Given the description of an element on the screen output the (x, y) to click on. 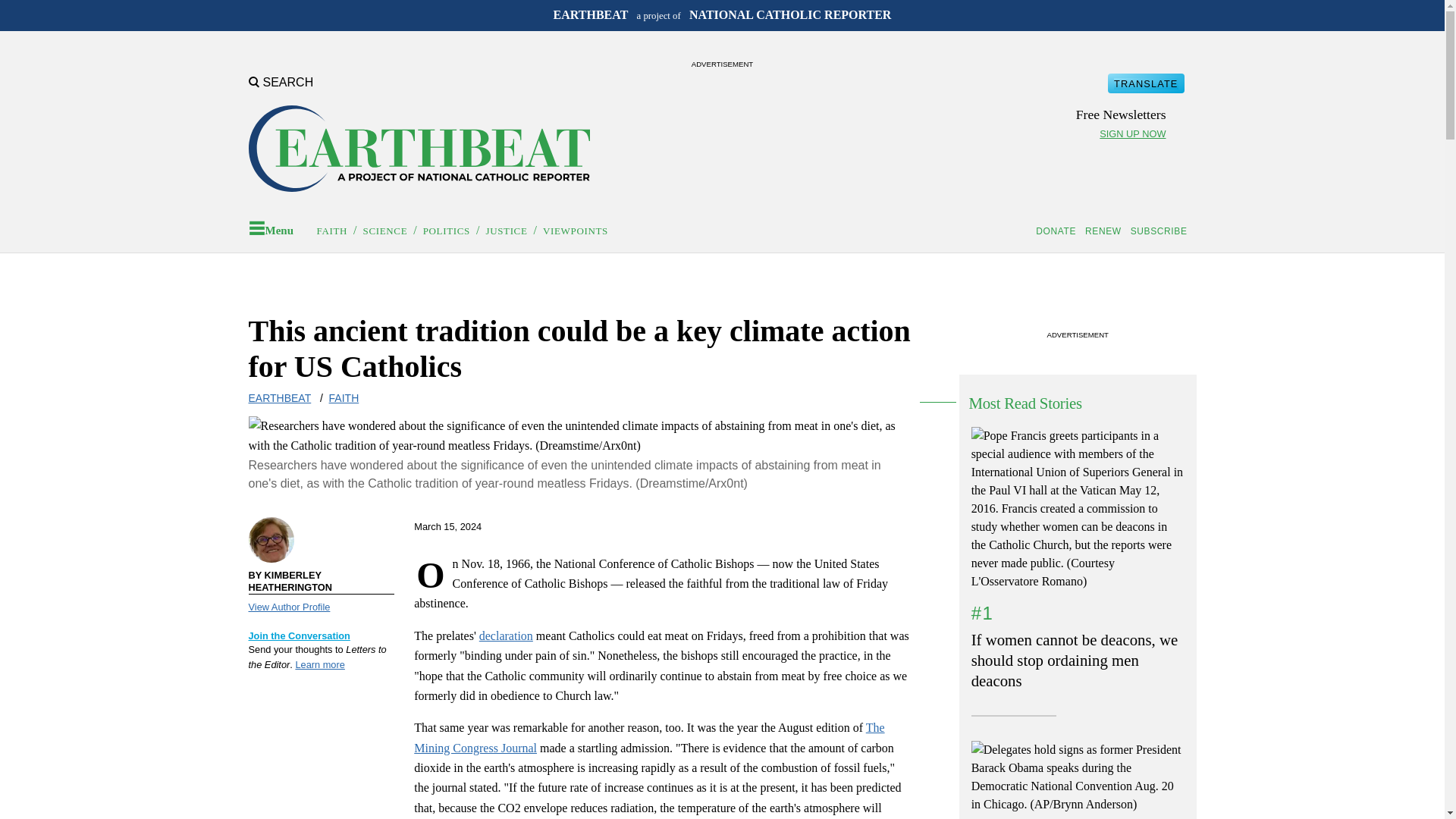
EARTHBEAT (279, 398)
Send a letter to the editor (319, 664)
FAITH (332, 230)
JUSTICE (505, 230)
SCIENCE (384, 230)
DONATE (1058, 230)
SIGN UP NOW (1132, 133)
Share on Facebook (811, 526)
TRANSLATE (1145, 83)
